Given the description of an element on the screen output the (x, y) to click on. 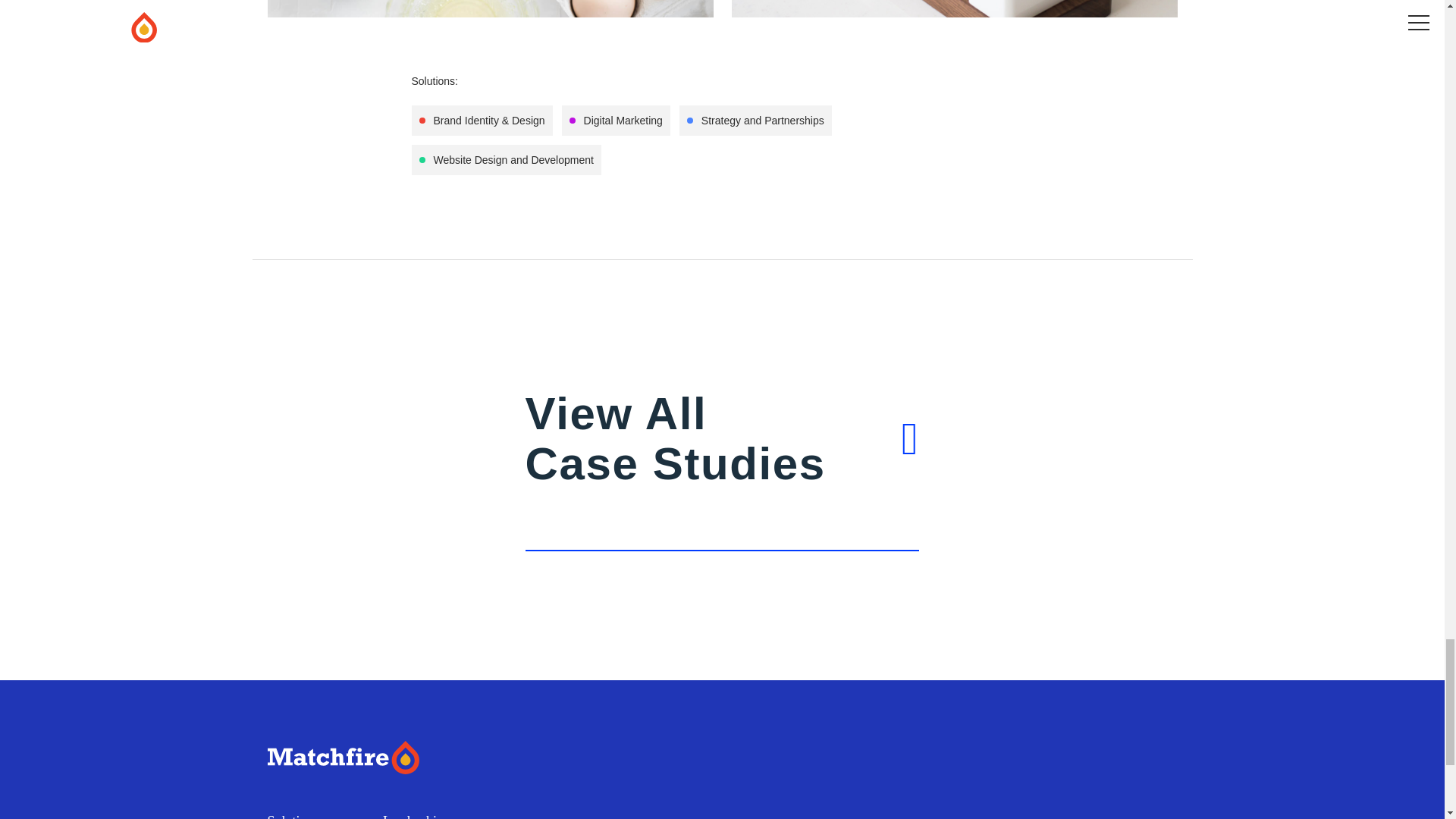
Digital Marketing (615, 120)
Solutions (292, 816)
Strategy and Partnerships (755, 120)
Leadership (413, 816)
Matchfire (722, 470)
Website Design and Development (387, 759)
